Given the description of an element on the screen output the (x, y) to click on. 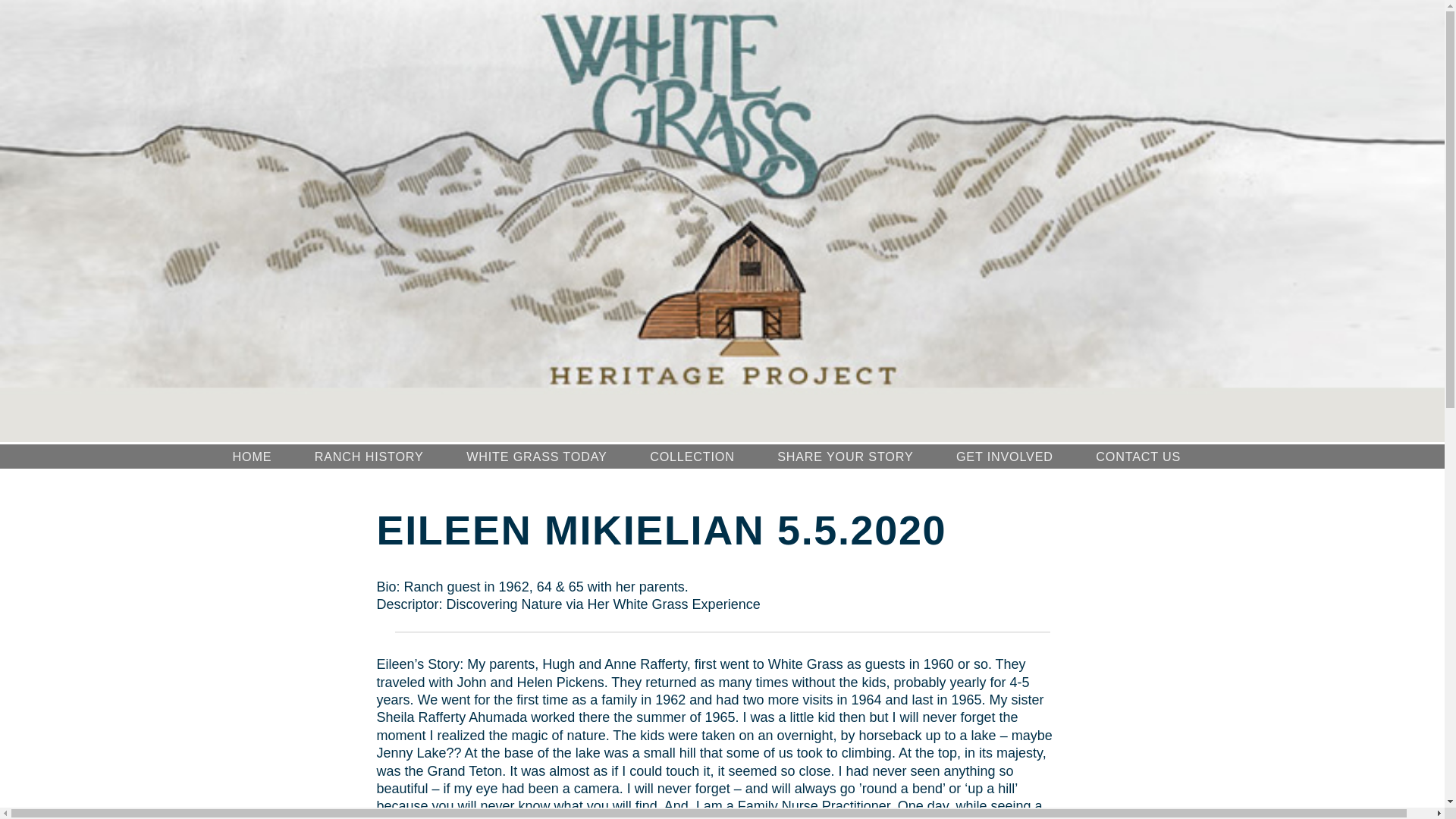
GET INVOLVED (1004, 456)
RANCH HISTORY (368, 456)
CONTACT US (1138, 456)
COLLECTION (692, 456)
WHITE GRASS TODAY (536, 456)
SHARE YOUR STORY (844, 456)
HOME (250, 456)
